Given the description of an element on the screen output the (x, y) to click on. 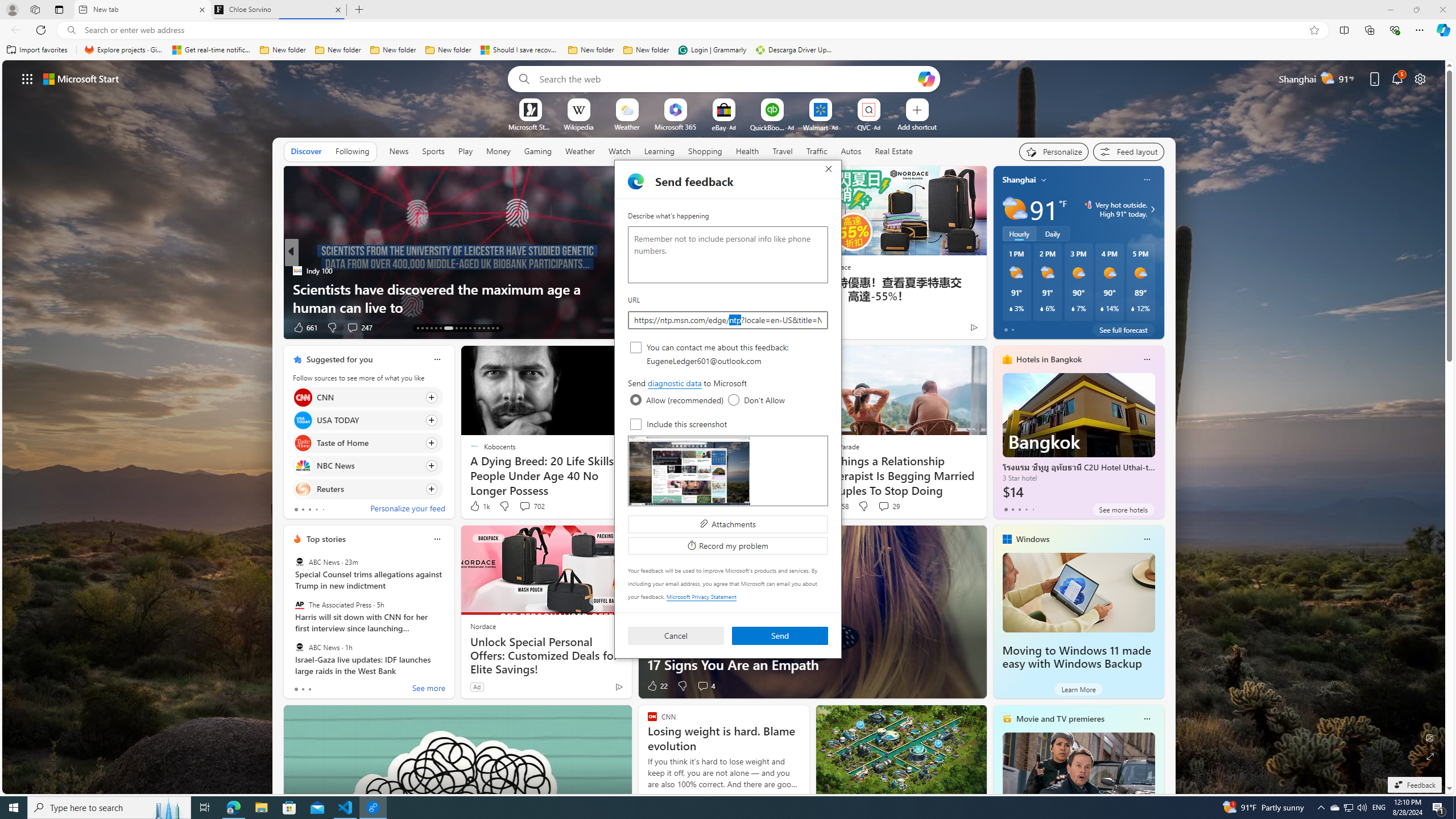
Page settings (1420, 78)
Play (465, 151)
Don't Allow (733, 399)
Microsoft 365 (675, 126)
View comments 247 Comment (359, 327)
Hide this story (597, 359)
Edge Feedback - 1 running window (373, 807)
Should I save recovered Word documents? - Microsoft Support (519, 49)
Gaming (537, 151)
AutomationID: tab-13 (417, 328)
